Given the description of an element on the screen output the (x, y) to click on. 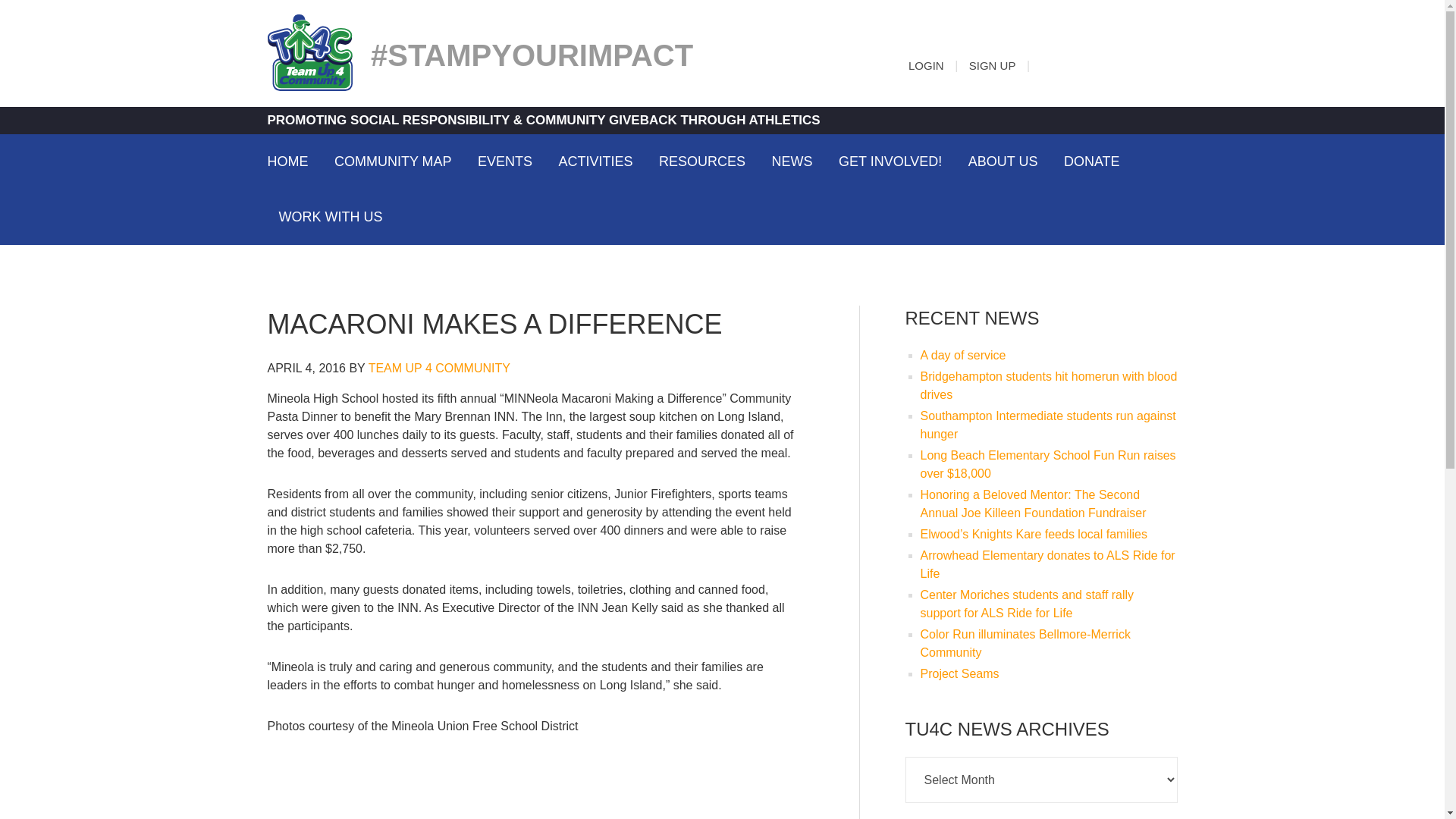
Twitter (1134, 62)
Instagram (1106, 62)
LOGIN (925, 65)
ABOUT US (1002, 160)
Southampton Intermediate students run against hunger (1048, 424)
RESOURCES (702, 160)
Bridgehampton students hit homerun with blood drives (1048, 385)
GET INVOLVED! (890, 160)
Facebook (1077, 62)
ACTIVITIES (596, 160)
